Given the description of an element on the screen output the (x, y) to click on. 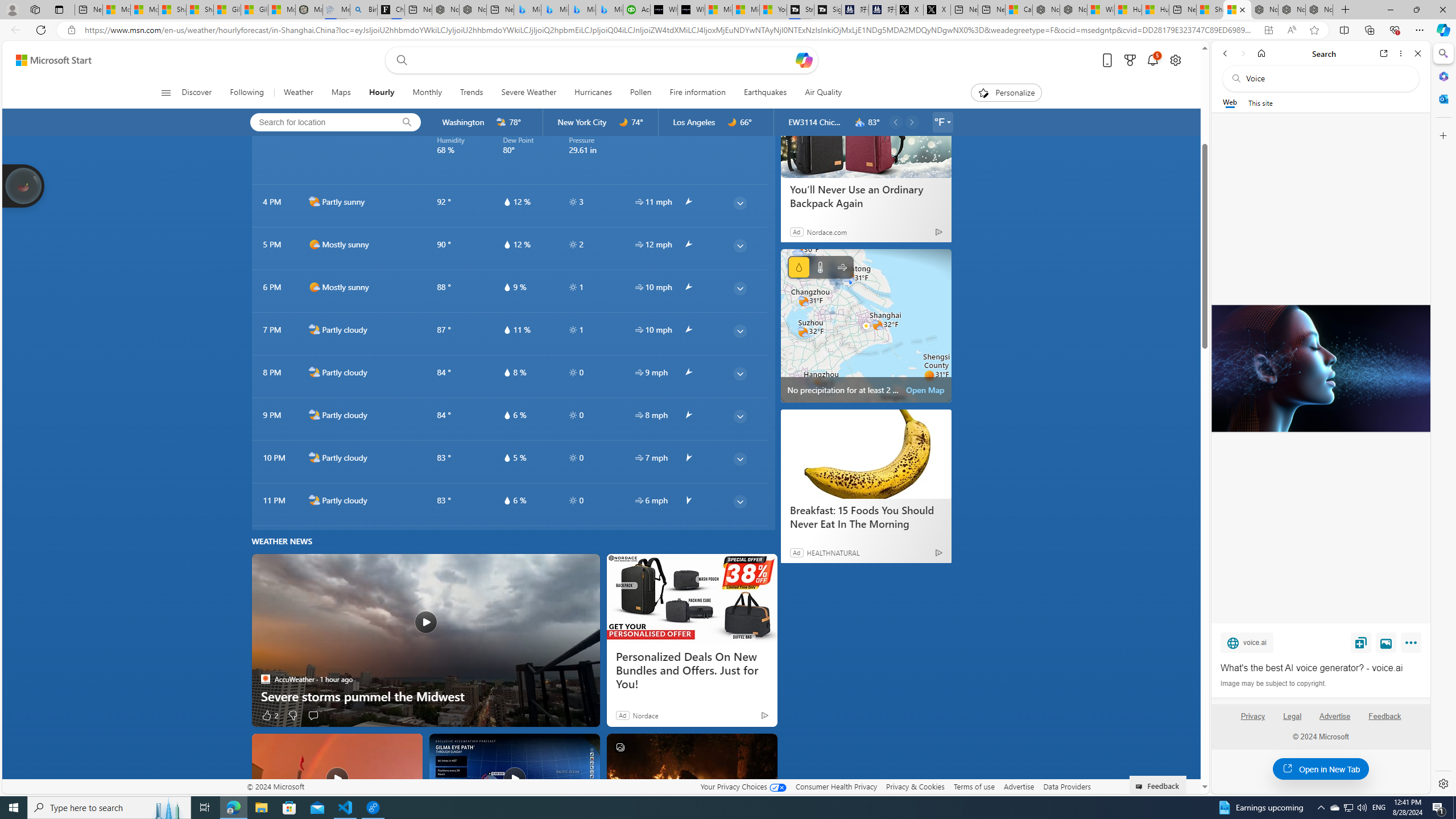
hourlyTable/uv (572, 500)
Severe storms pummel the Midwest (425, 640)
Hurricanes (593, 92)
2 Like (269, 714)
static map image of vector map (866, 325)
Terms of use (973, 785)
